Given the description of an element on the screen output the (x, y) to click on. 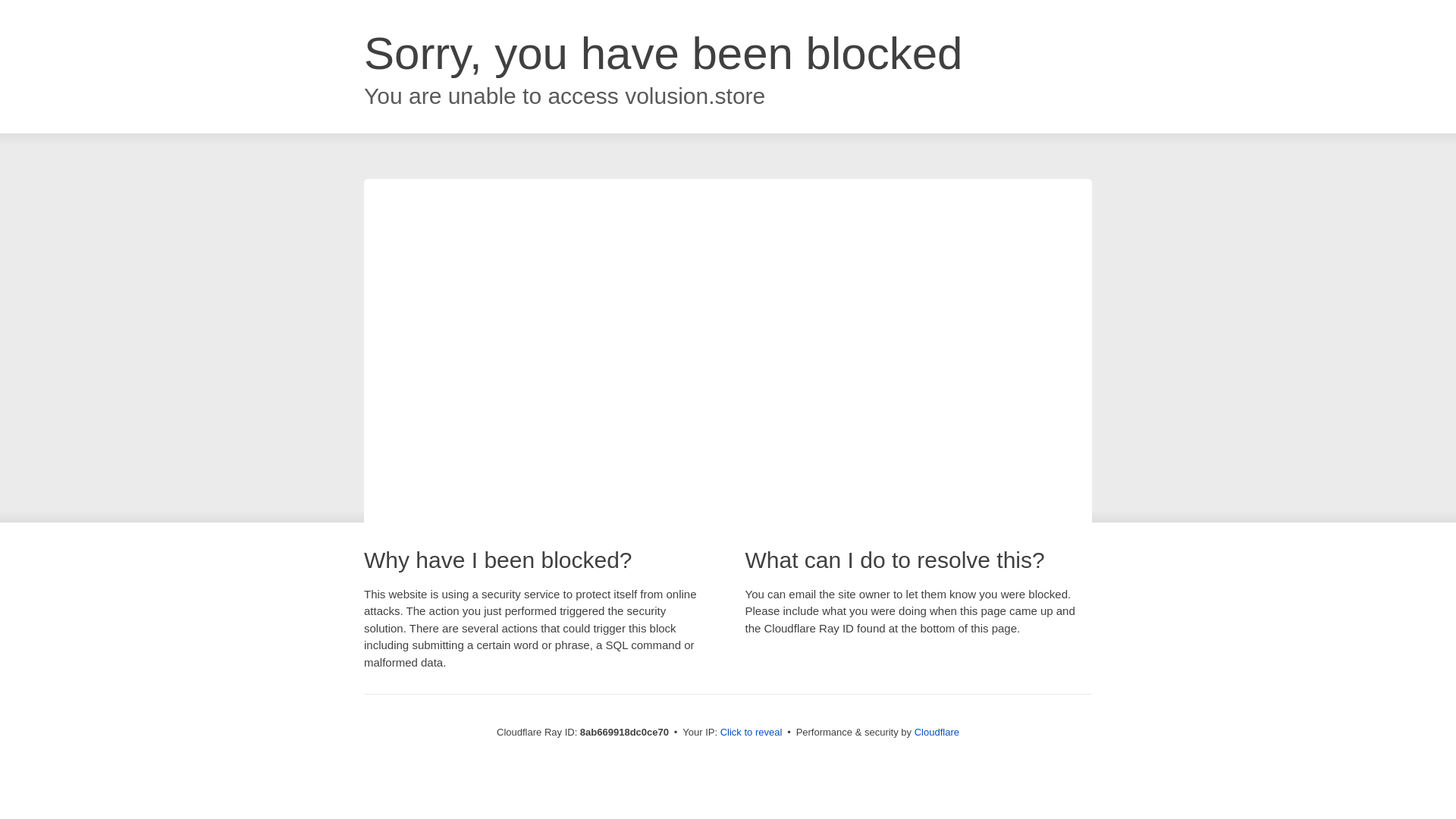
Click to reveal (751, 732)
Cloudflare (936, 731)
